Given the description of an element on the screen output the (x, y) to click on. 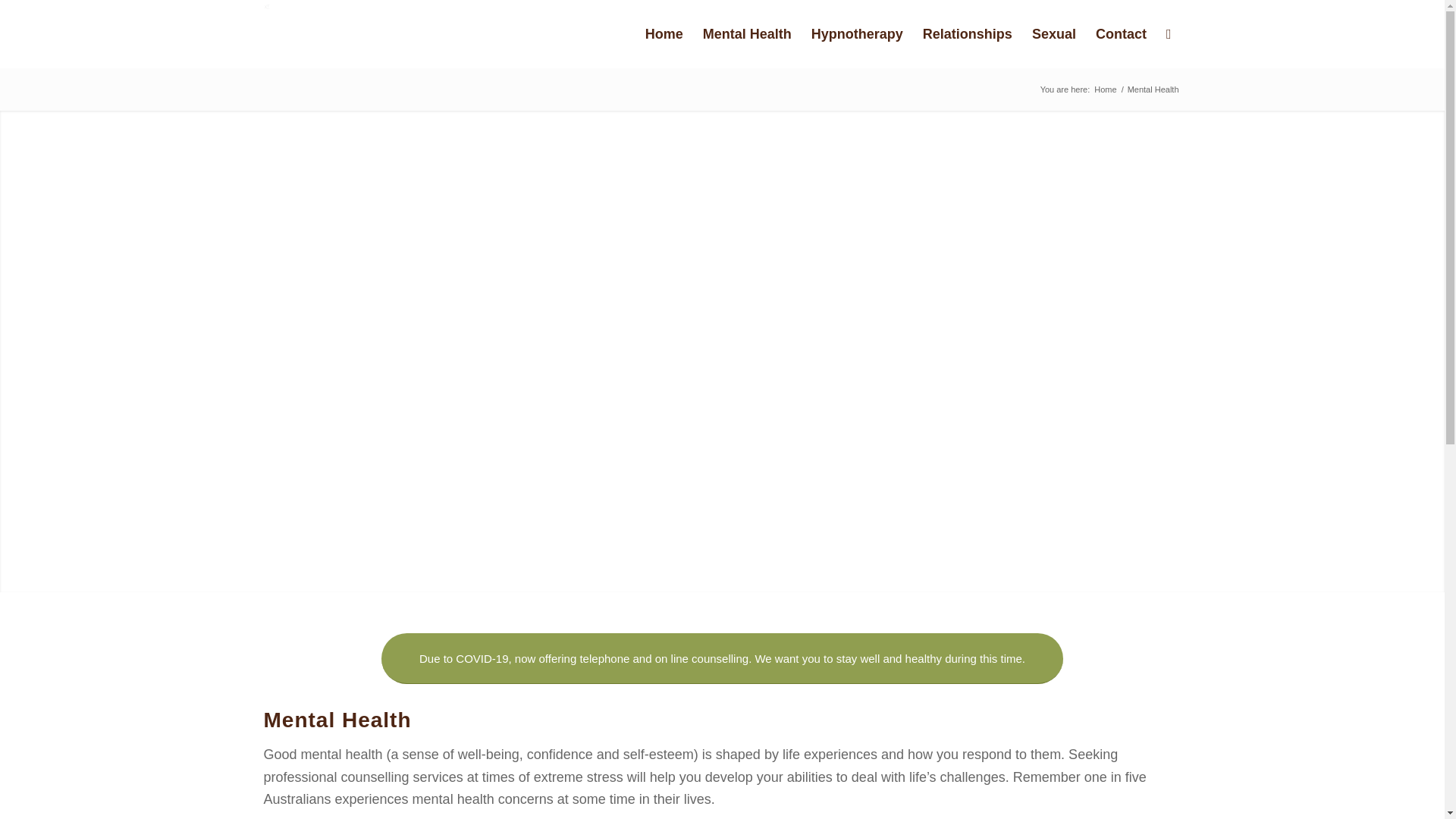
Contact (1121, 33)
Mental Health (747, 33)
Relationships (967, 33)
Hypnotherapy (857, 33)
Home (1105, 89)
Sexual (1054, 33)
Catherine Mahoney (1105, 89)
